Given the description of an element on the screen output the (x, y) to click on. 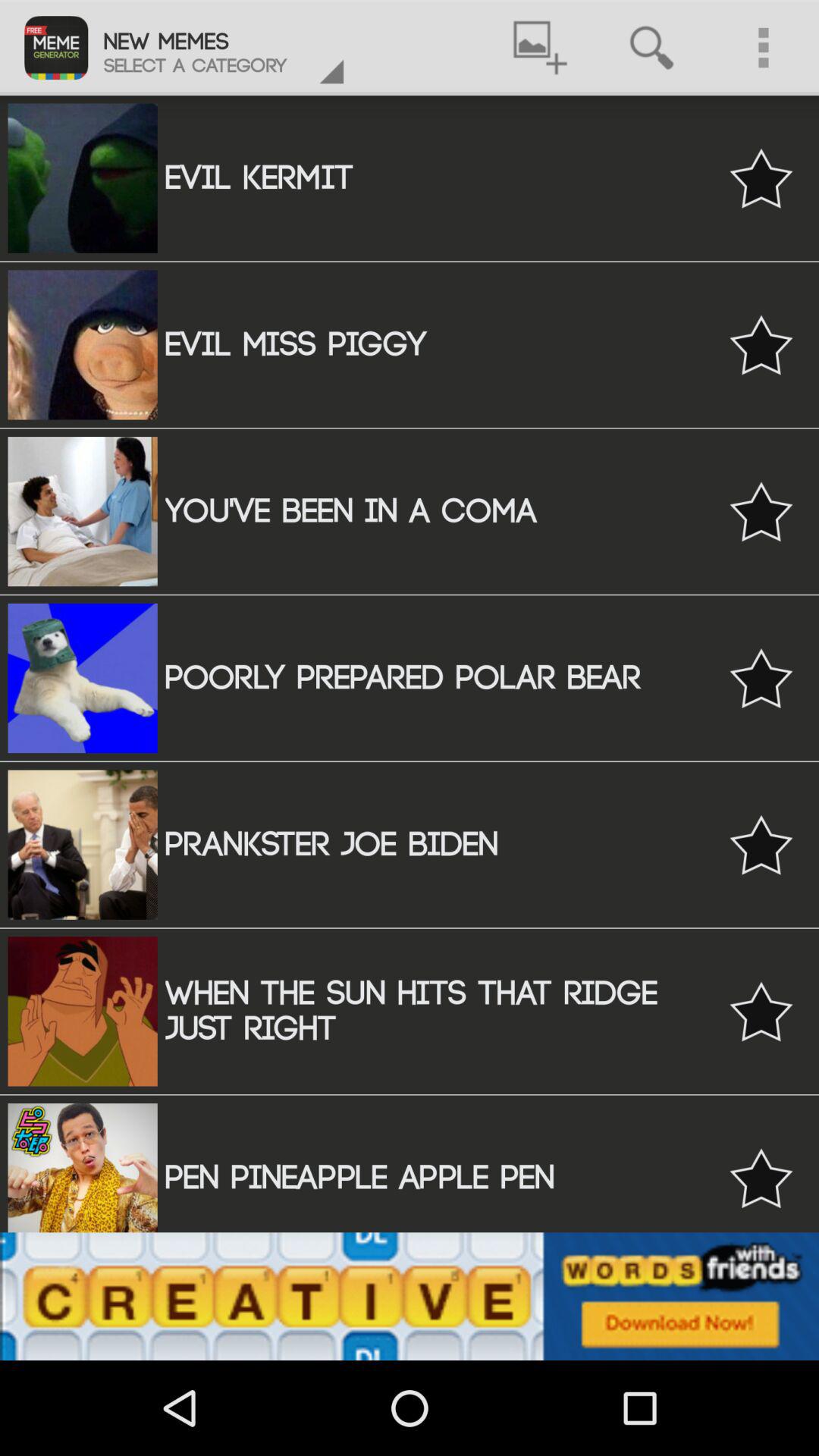
mark favorite (761, 844)
